Given the description of an element on the screen output the (x, y) to click on. 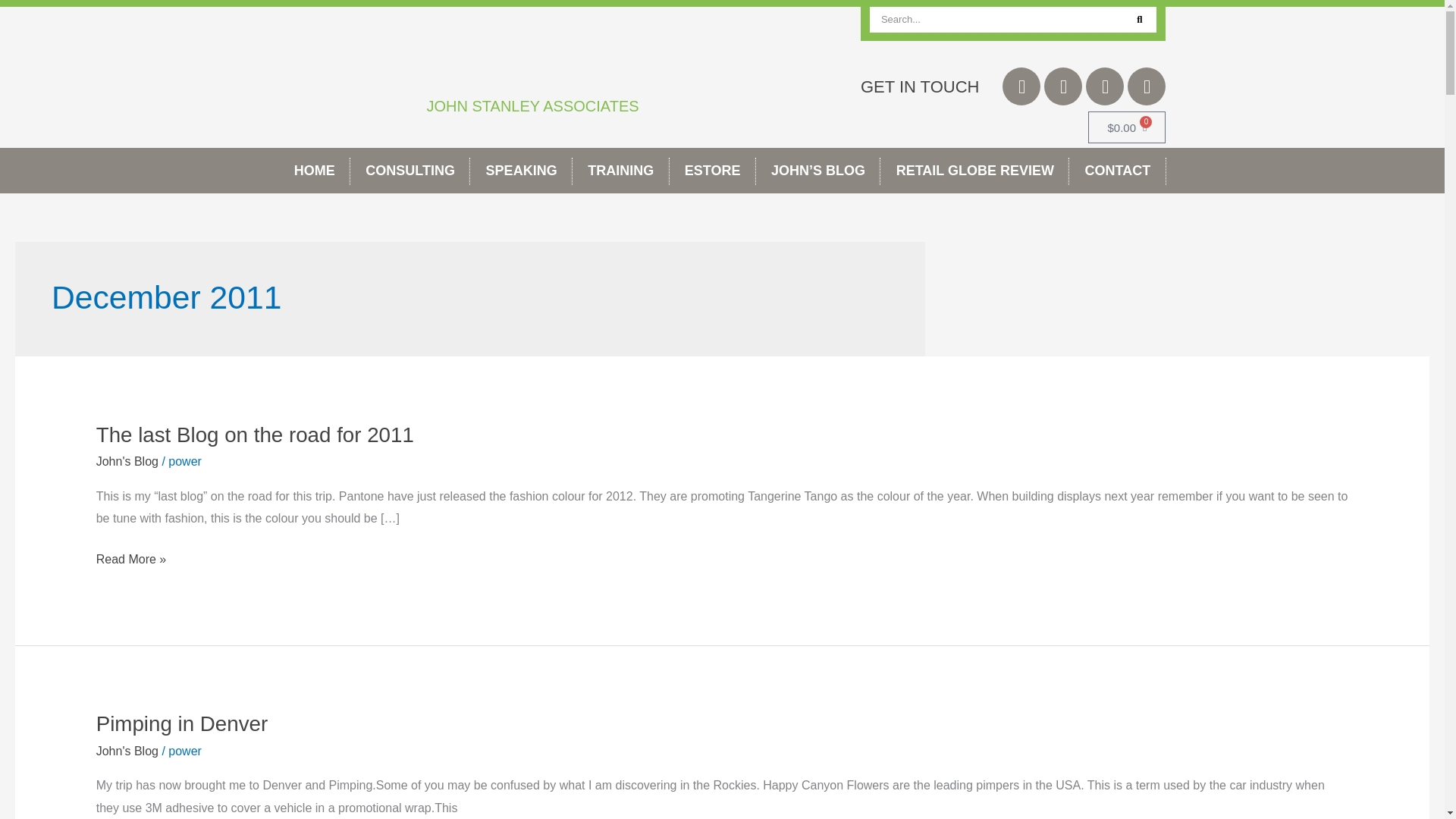
TRAINING (620, 170)
ESTORE (712, 170)
Search (1139, 19)
Linkedin-in (1105, 86)
SPEAKING (521, 170)
Twitter (1022, 86)
View all posts by power (185, 750)
CONTACT (1117, 170)
CONSULTING (410, 170)
Facebook-f (1062, 86)
HOME (314, 170)
RETAIL GLOBE REVIEW (974, 170)
Youtube (1146, 86)
View all posts by power (185, 461)
